Given the description of an element on the screen output the (x, y) to click on. 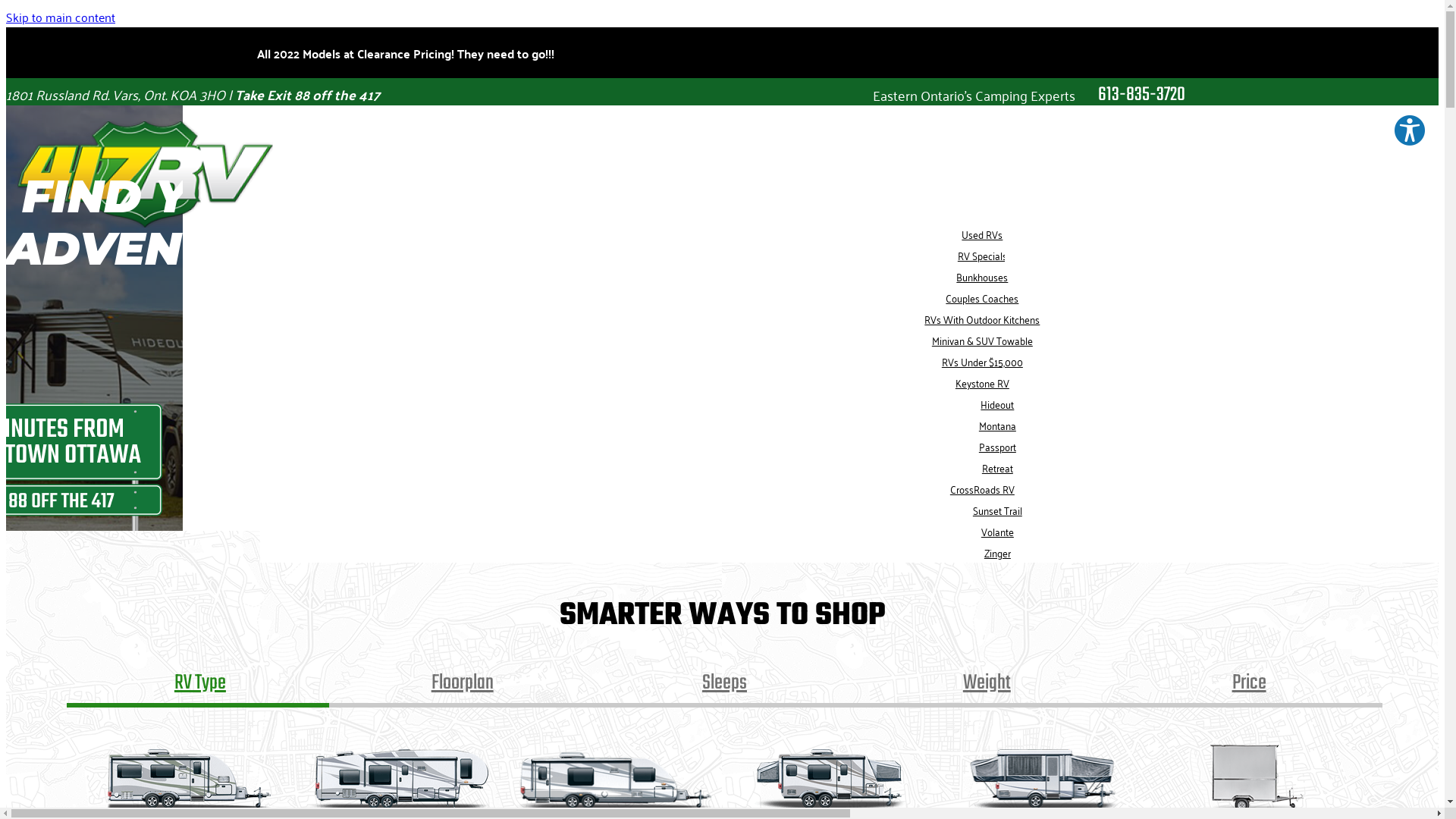
Service & Parts Element type: text (758, 148)
RV Service Element type: text (1384, 212)
Used RVs Element type: text (981, 233)
All RVs Element type: text (982, 191)
Financing Element type: text (476, 148)
Weight Element type: text (986, 684)
Price Element type: text (1248, 684)
Keystone RV Element type: text (982, 382)
Sell Your RV Element type: text (604, 148)
RV Specials Element type: text (982, 255)
613-835-3720 Element type: text (1141, 94)
Couples Coaches Element type: text (981, 297)
Passport Element type: text (997, 446)
Bunkhouses Element type: text (981, 276)
Montana Element type: text (997, 424)
CrossRoads RV Element type: text (982, 488)
Hideout Element type: text (997, 403)
Sleeps Element type: text (724, 684)
RV Type Element type: text (199, 684)
Volante Element type: text (997, 531)
Zinger Element type: text (997, 552)
About Us Element type: text (1070, 148)
Retreat Element type: text (997, 467)
New RVs Element type: text (982, 212)
Towing Your RV Element type: text (929, 148)
Floorplan Element type: text (462, 684)
Sunset Trail Element type: text (997, 509)
RVs Under $15,000 Element type: text (982, 361)
Minivan & SUV Towable Element type: text (982, 340)
RV Parts Element type: text (1385, 191)
RVs For Sale Element type: text (343, 148)
RVs With Outdoor Kitchens Element type: text (982, 318)
  Element type: text (246, 148)
Skip to main content Element type: text (60, 16)
